Given the description of an element on the screen output the (x, y) to click on. 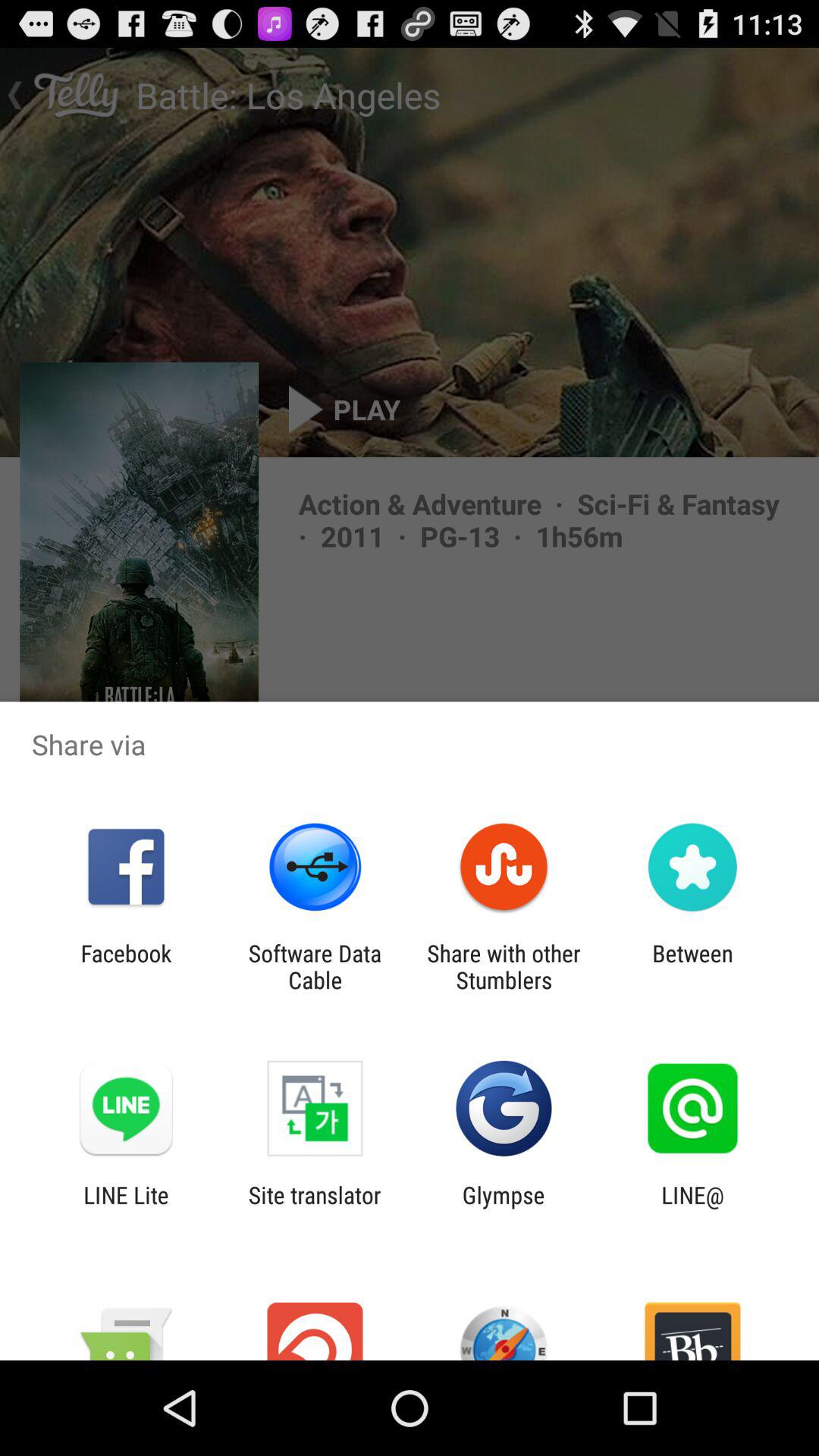
launch the icon to the left of glympse app (314, 1208)
